Given the description of an element on the screen output the (x, y) to click on. 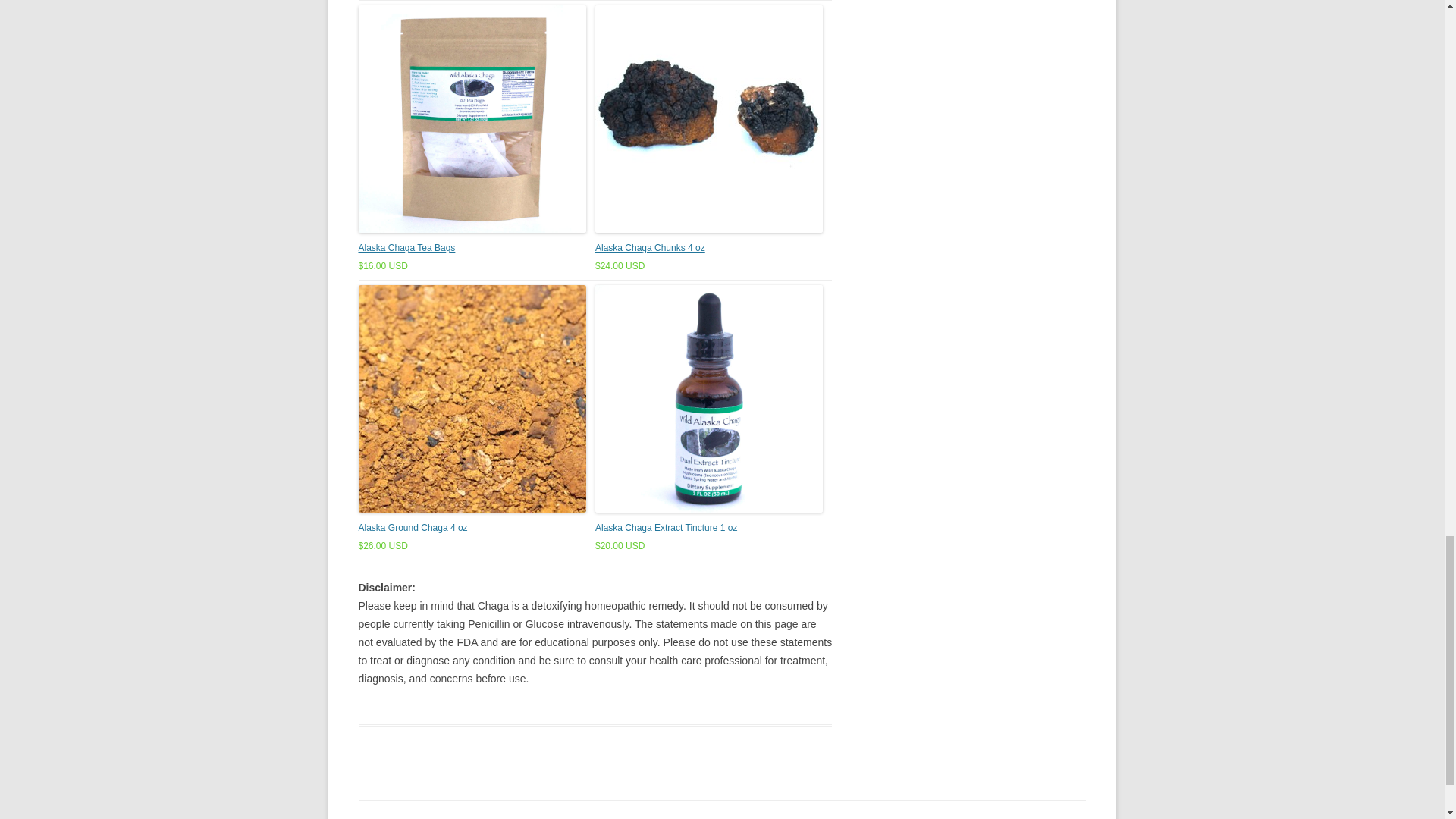
Alaska Ground Chaga 4 oz (412, 527)
Alaska Chaga Chunks 4 oz (649, 247)
Alaska Chaga Tea Bags (406, 247)
Alaska Chaga Extract Tincture 1 oz (665, 527)
